Given the description of an element on the screen output the (x, y) to click on. 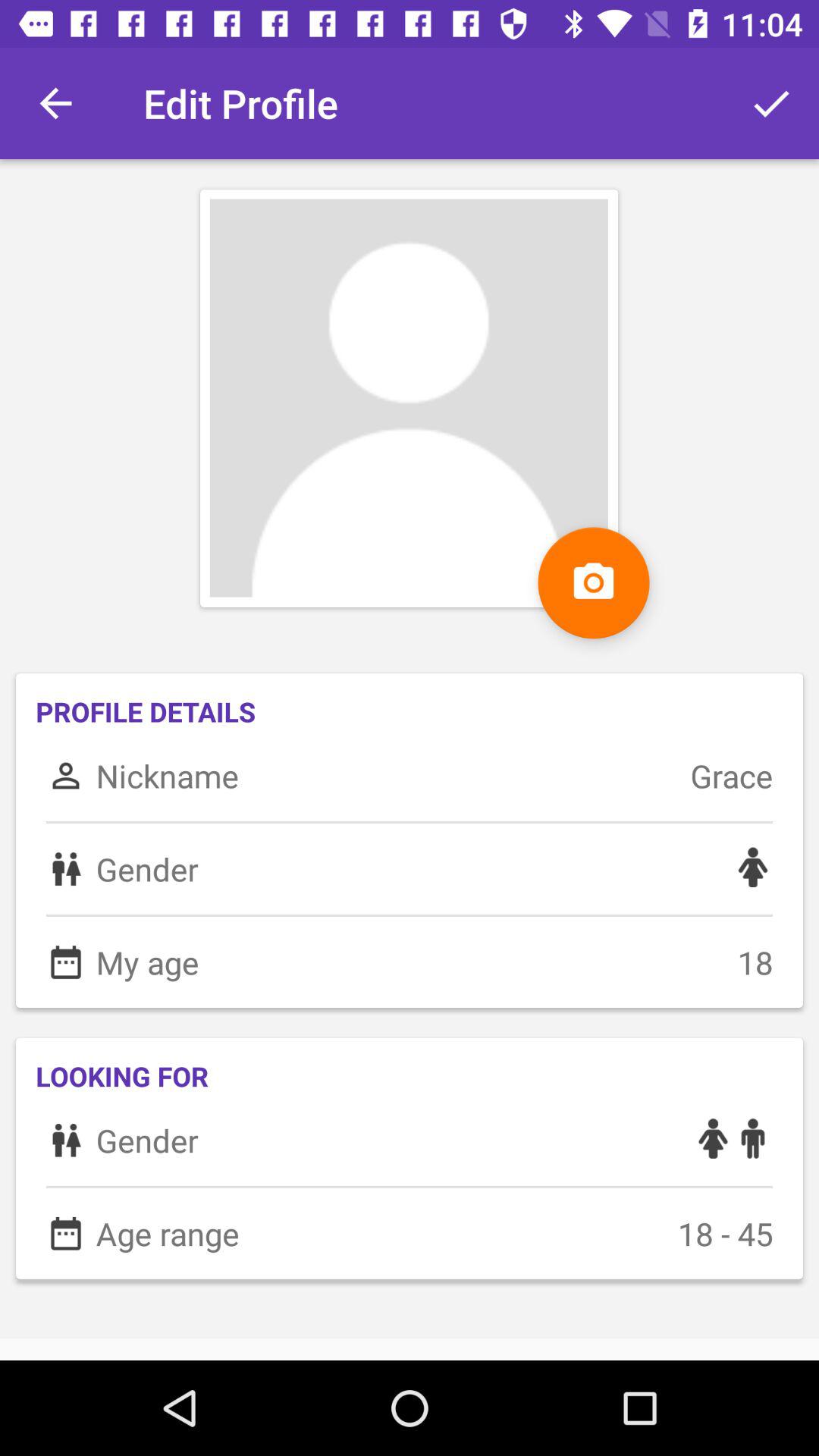
tap item above profile details icon (55, 103)
